Given the description of an element on the screen output the (x, y) to click on. 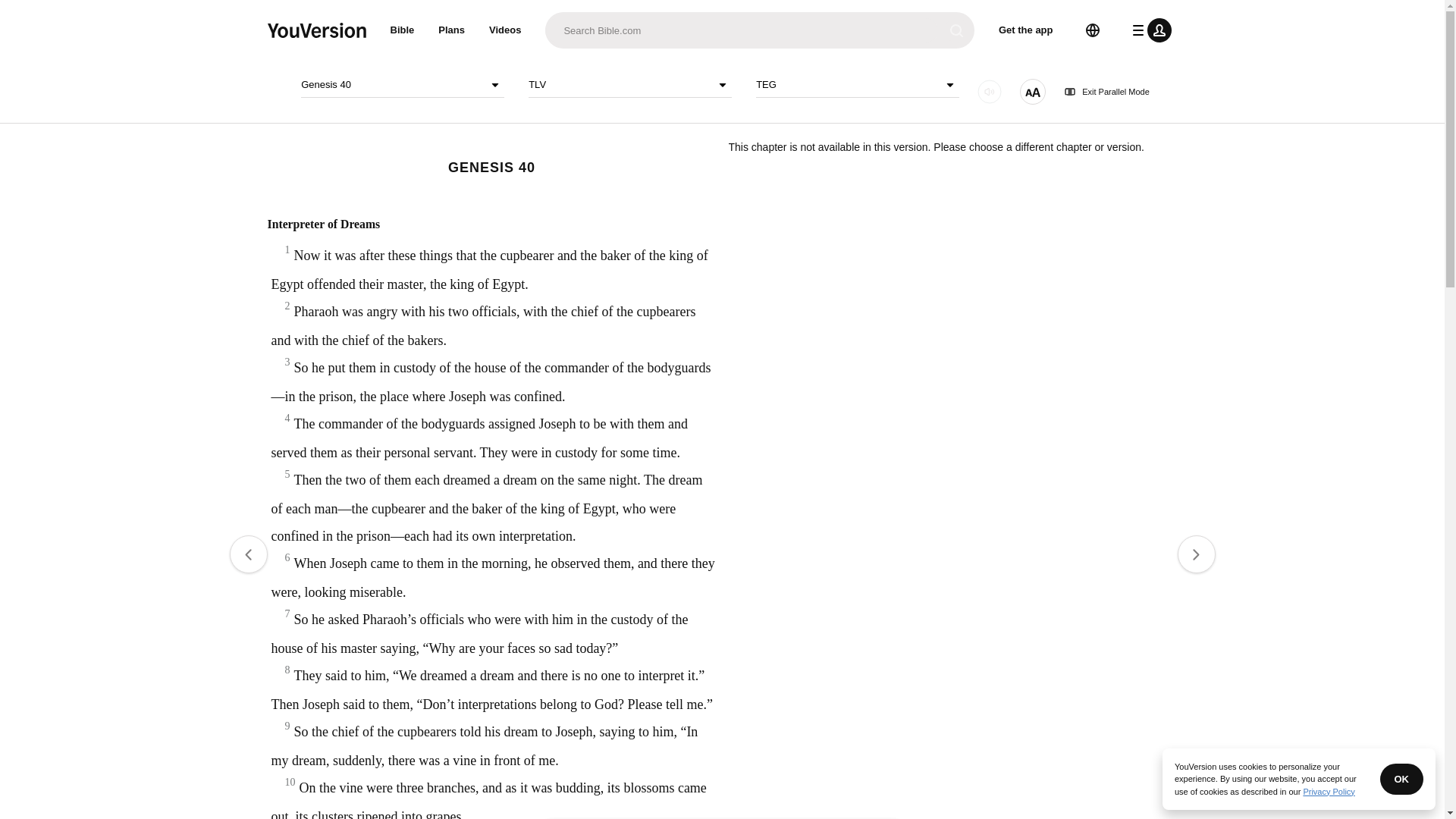
Privacy Policy (1328, 791)
Videos (504, 29)
TEG (857, 84)
Genesis 40 (402, 84)
Bible (401, 29)
TLV (630, 84)
Exit Parallel Mode (1107, 91)
Plans (451, 29)
OK (1401, 778)
Get the app (1026, 29)
